Given the description of an element on the screen output the (x, y) to click on. 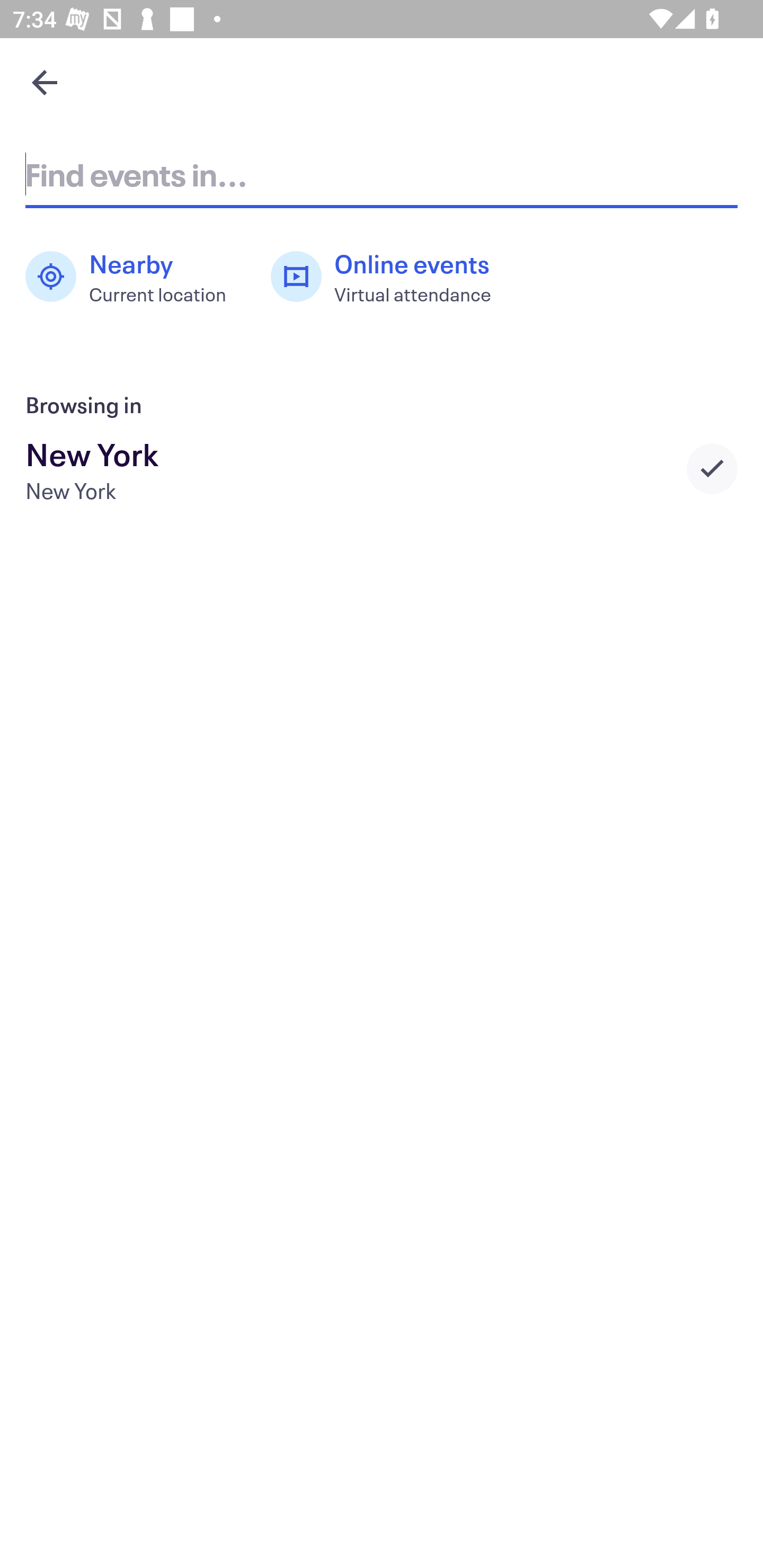
Navigate up (44, 82)
Find events in... (381, 173)
Nearby Current location (135, 276)
Online events Virtual attendance (390, 276)
New York New York Selected city (381, 468)
